Given the description of an element on the screen output the (x, y) to click on. 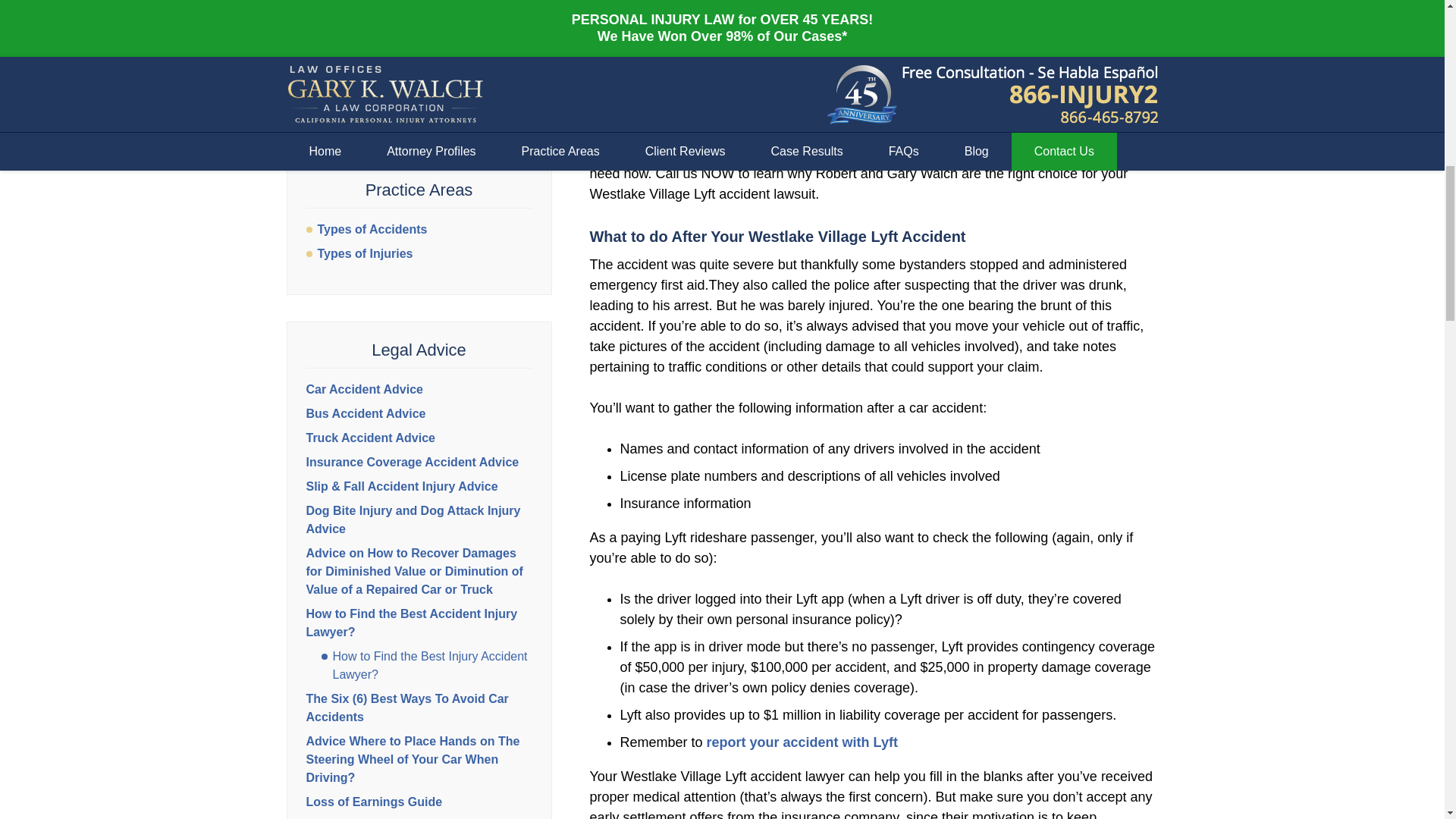
Types of Accidents (418, 229)
Types of Injuries (418, 253)
Truck Accident Advice (370, 437)
Legal Advice (418, 349)
CONTACT US NOW (418, 96)
Bus Accident Advice (365, 413)
Car Accident Advice (364, 389)
report your accident with Lyft (802, 742)
Practice Areas (419, 189)
